Given the description of an element on the screen output the (x, y) to click on. 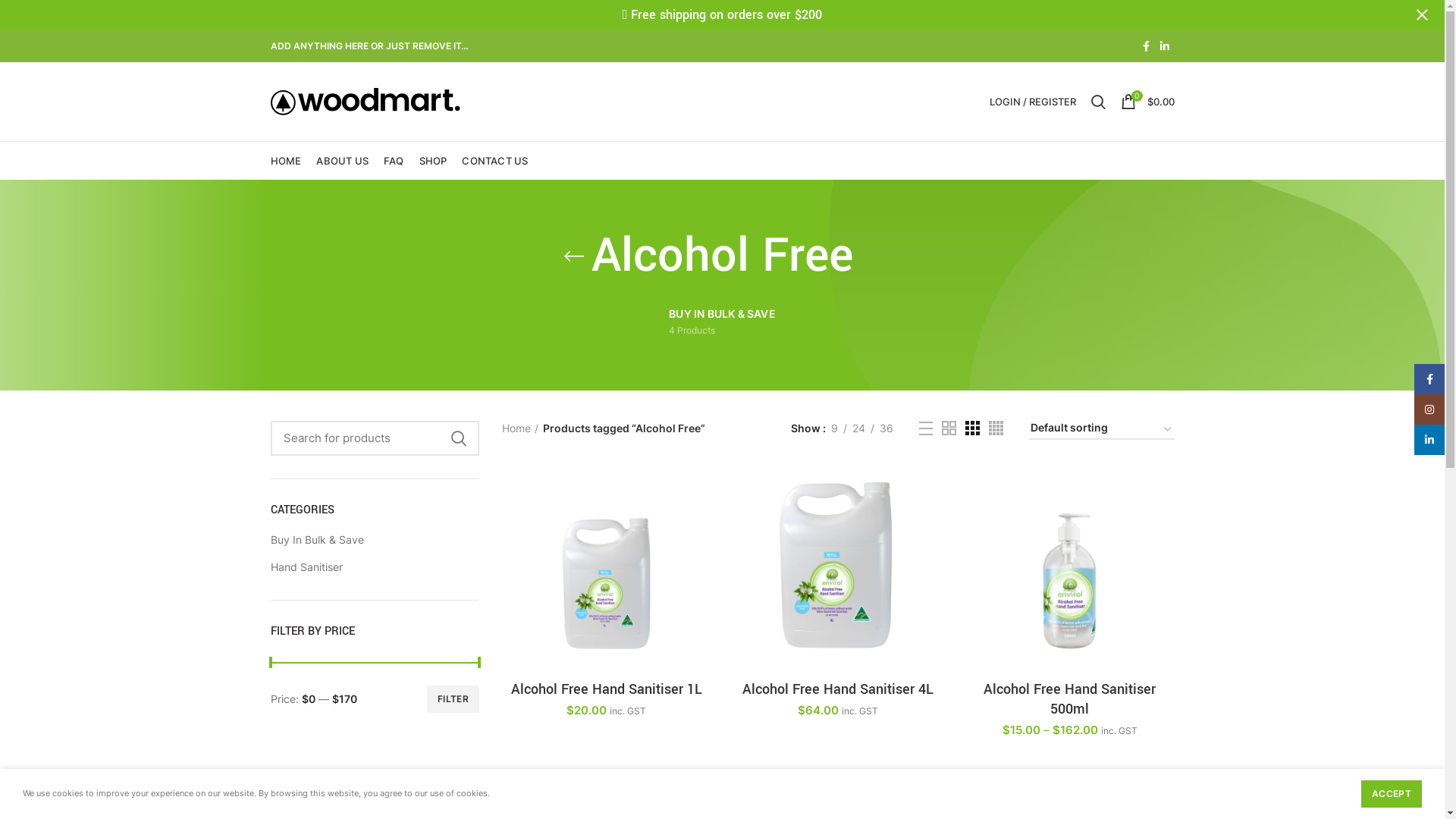
SHOP Element type: text (433, 160)
ABOUT US Element type: text (342, 160)
Facebook Element type: text (1145, 46)
Home Element type: text (520, 428)
LOGIN / REGISTER Element type: text (1031, 101)
CONTACT US Element type: text (494, 160)
ACCEPT Element type: text (1391, 793)
36 Element type: text (885, 428)
Alcohol Free Hand Sanitiser 1L Element type: text (605, 689)
Buy In Bulk & Save Element type: text (364, 539)
Alcohol Free Hand Sanitiser 4L Element type: text (837, 689)
Alcohol Free Hand Sanitiser 500ml Element type: text (1069, 698)
FILTER Element type: text (452, 698)
HOME Element type: text (285, 160)
linkedin Element type: text (1163, 46)
SEARCH Element type: text (458, 437)
0
$0.00 Element type: text (1147, 101)
Log in Element type: text (950, 329)
9 Element type: text (833, 428)
BUY IN BULK & SAVE
4 Products Element type: text (722, 321)
Hand Sanitiser Element type: text (364, 566)
Search Element type: hover (1097, 101)
FAQ Element type: text (393, 160)
24 Element type: text (857, 428)
